Given the description of an element on the screen output the (x, y) to click on. 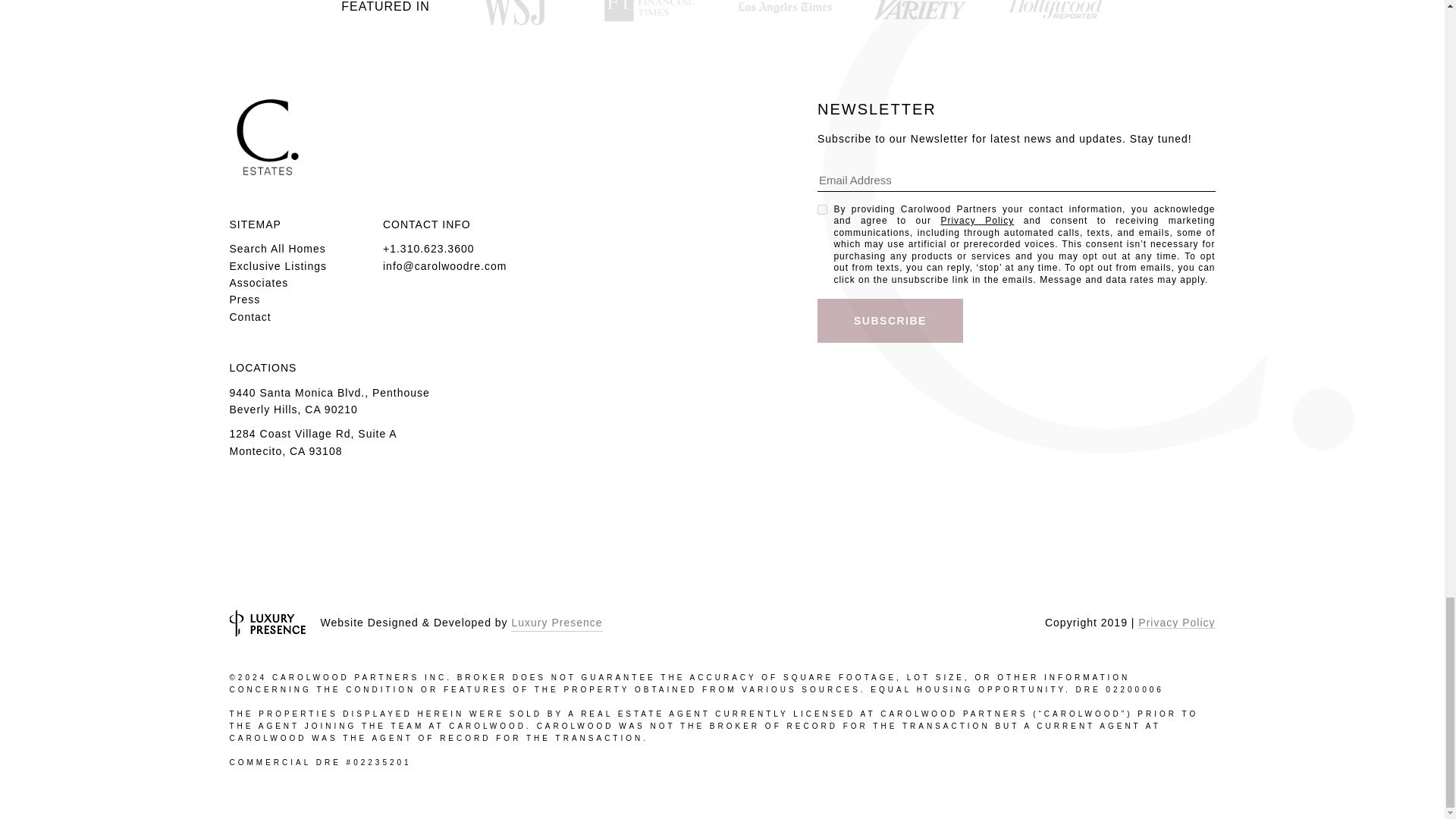
Press (244, 299)
Associates (258, 282)
Exclusive Listings (277, 265)
on (821, 209)
Contact (249, 316)
Search All Homes (276, 248)
SUBSCRIBE (889, 320)
